Given the description of an element on the screen output the (x, y) to click on. 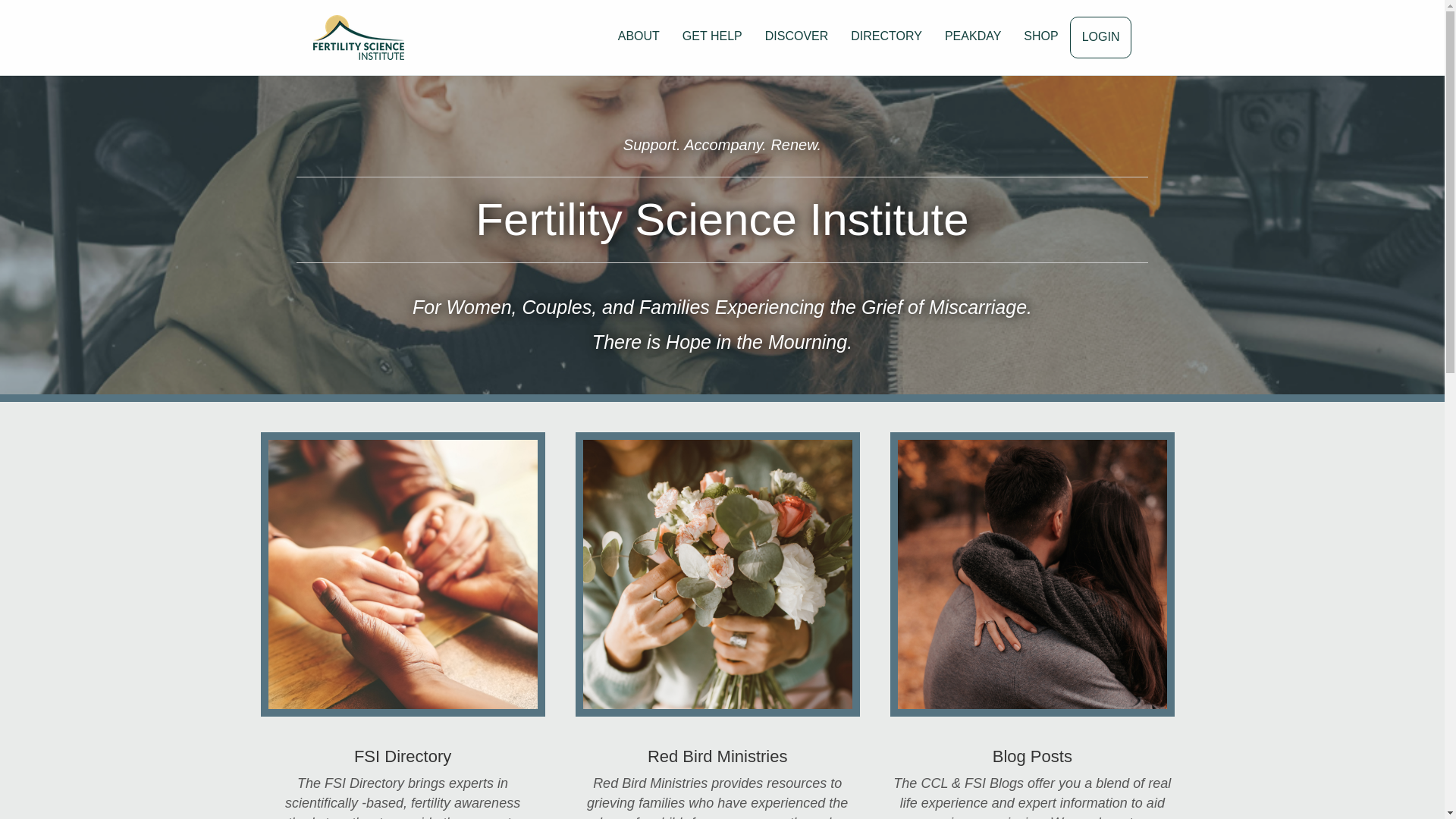
SHOP (1039, 36)
DIRECTORY (886, 36)
DISCOVER (797, 36)
Hugging (1031, 574)
3 (717, 574)
Holding Hands (402, 574)
LOGIN (1100, 36)
ABOUT (639, 36)
GET HELP (712, 36)
PEAKDAY (972, 36)
